Given the description of an element on the screen output the (x, y) to click on. 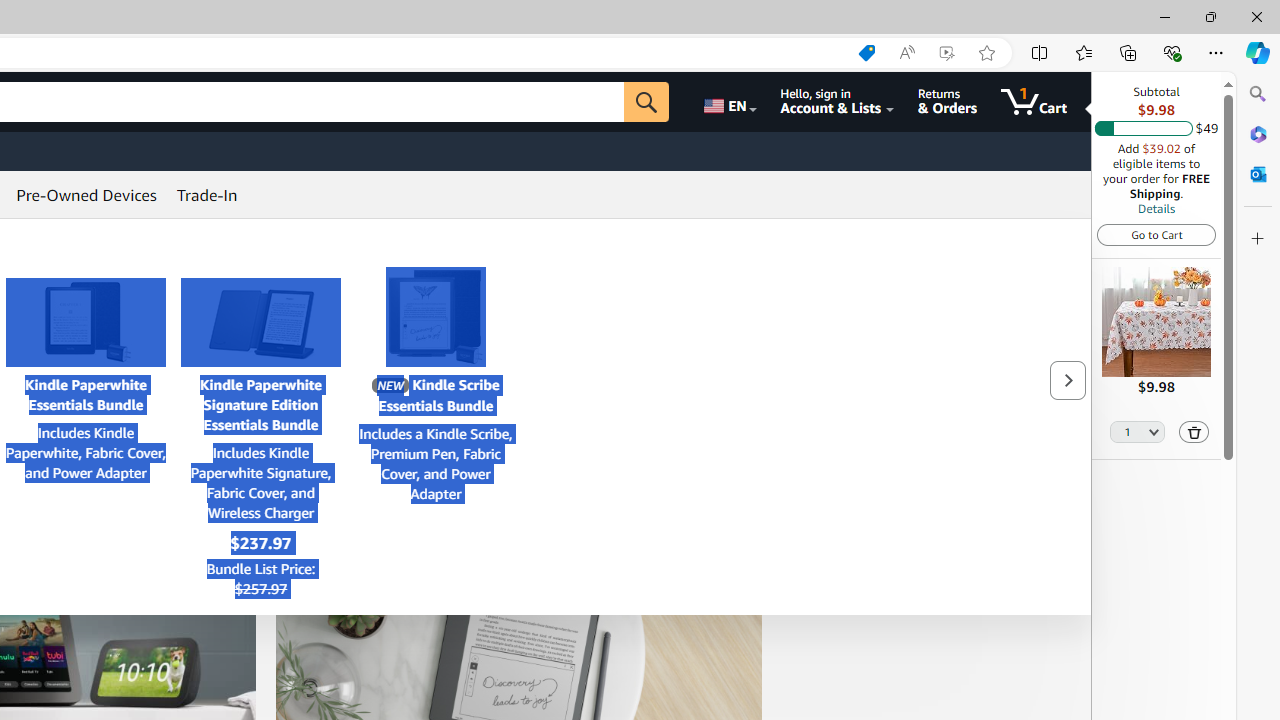
Choose a language for shopping. (728, 101)
Shopping in Microsoft Edge (867, 53)
Kindle Paperwhite Signature Edition Essentials Bundle (260, 322)
Next page (1067, 380)
